Given the description of an element on the screen output the (x, y) to click on. 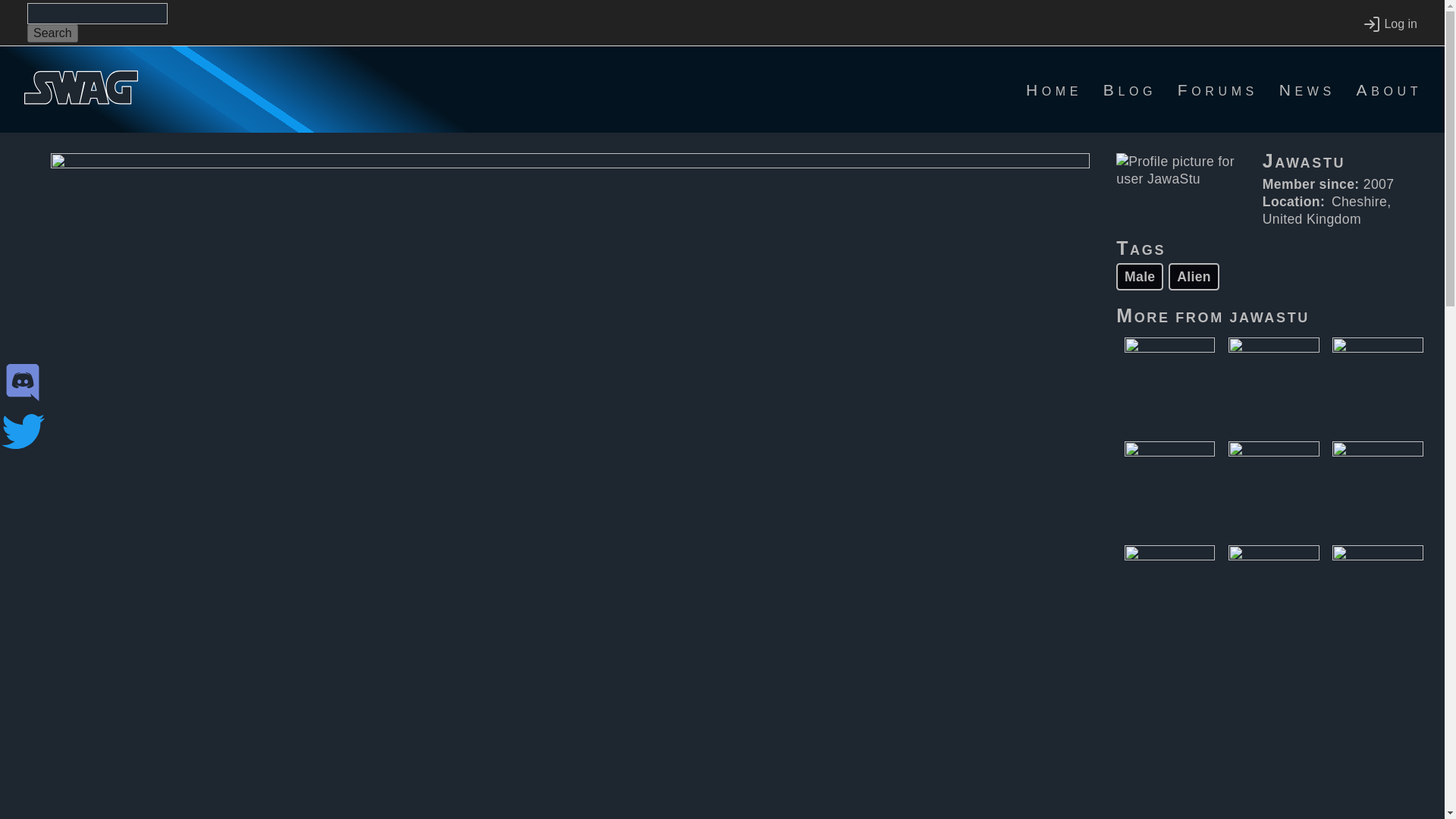
Forums (1217, 89)
Blog (1129, 89)
Male (1140, 276)
View user profile. (1268, 314)
JawaStu (1346, 165)
News (1307, 89)
Enter the terms you wish to search for. (97, 13)
Home (1053, 89)
Search (52, 33)
Alien (1193, 276)
About (1389, 89)
JawaStu (1268, 314)
Search (52, 33)
Log in (1389, 24)
